Given the description of an element on the screen output the (x, y) to click on. 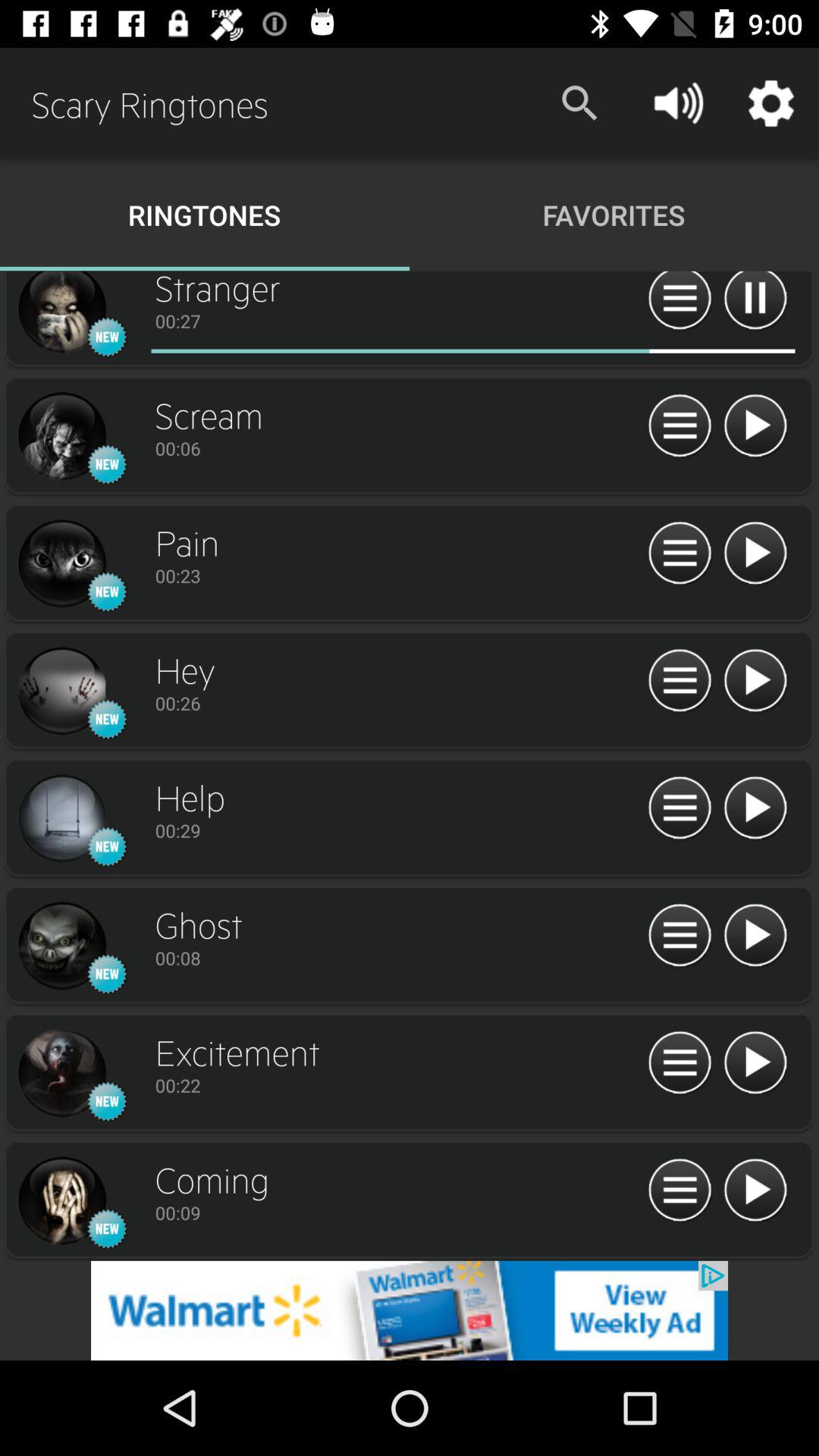
play track (755, 1063)
